Given the description of an element on the screen output the (x, y) to click on. 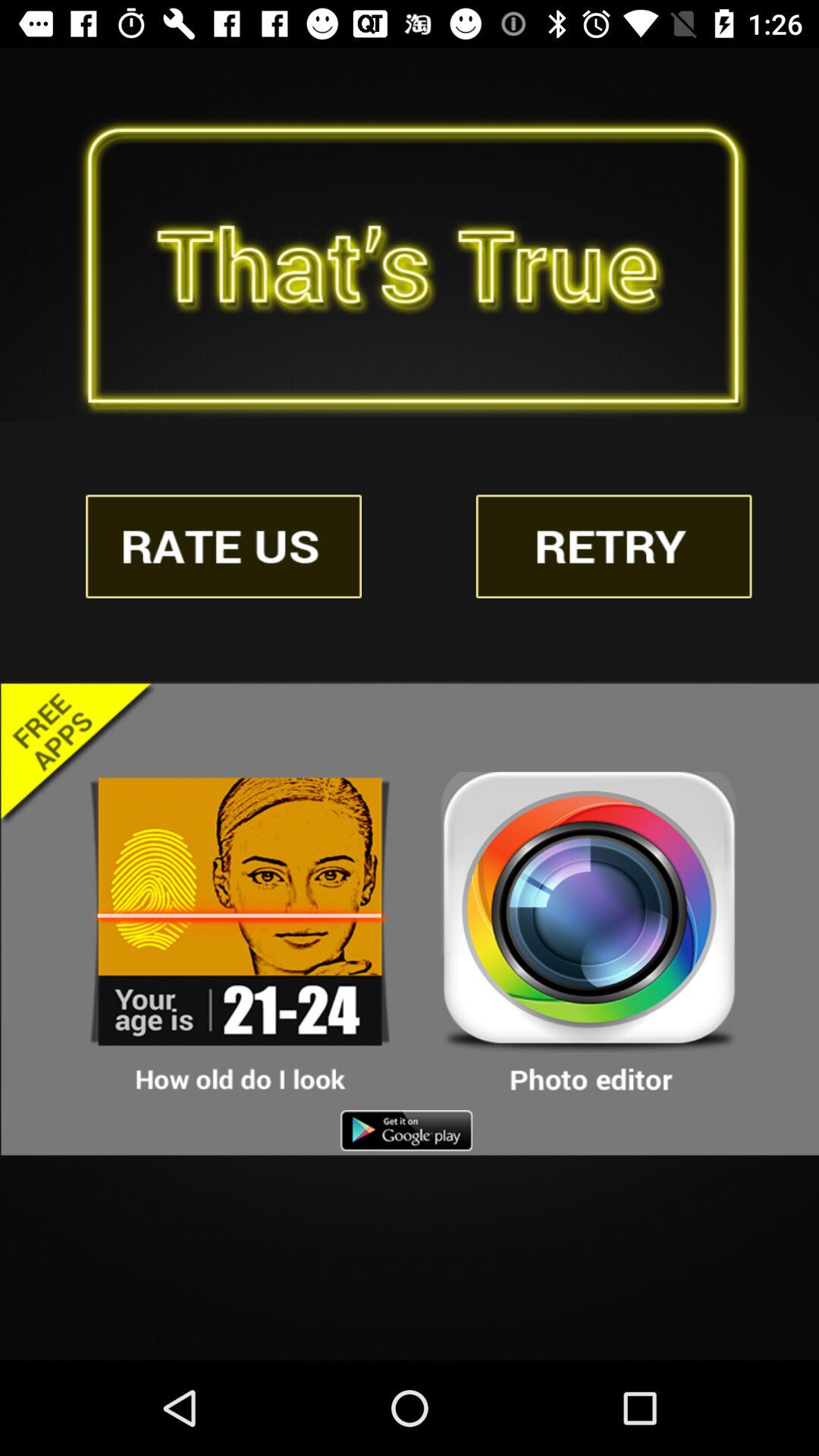
photo editor option (589, 933)
